Given the description of an element on the screen output the (x, y) to click on. 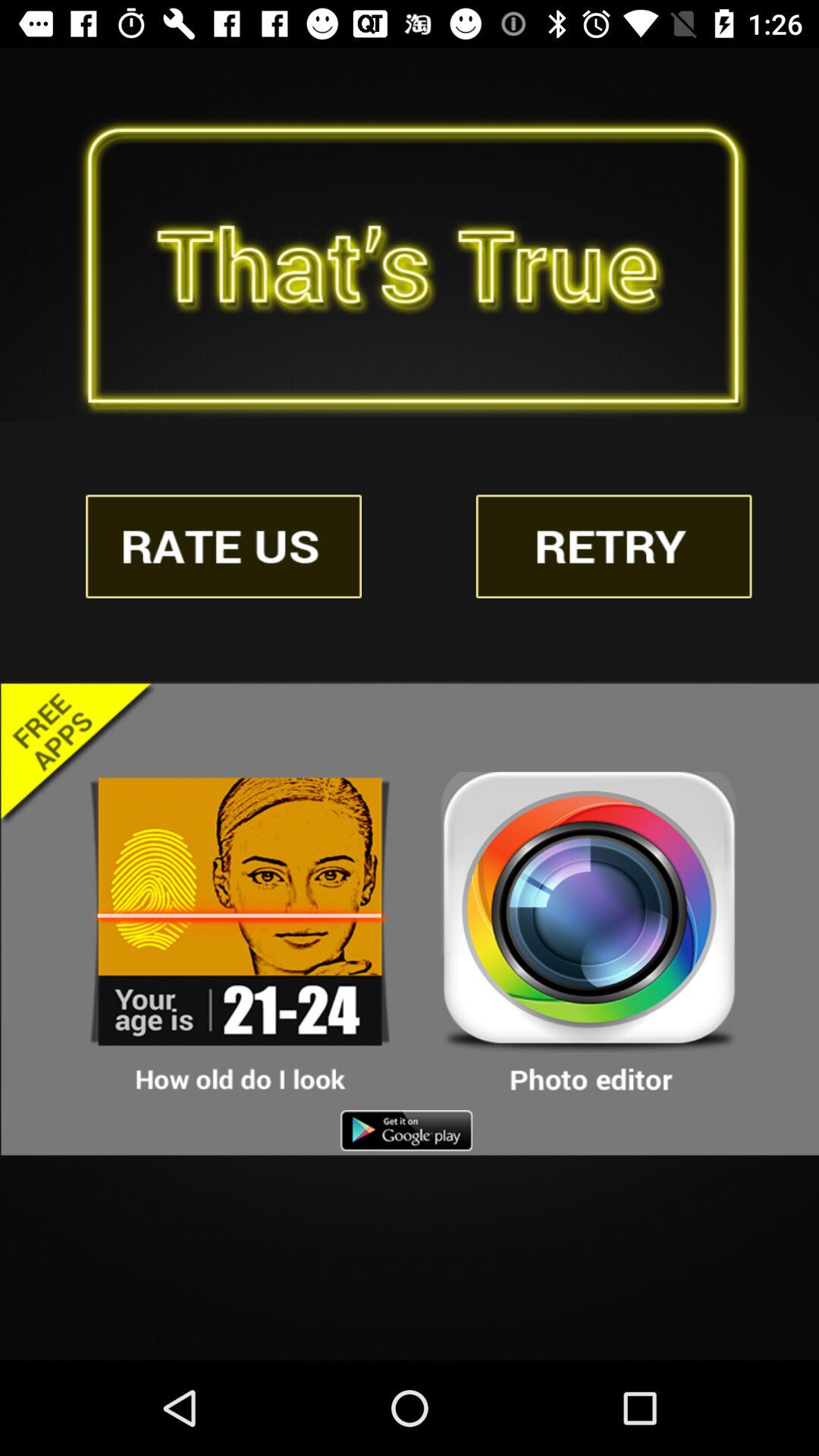
photo editor option (589, 933)
